Given the description of an element on the screen output the (x, y) to click on. 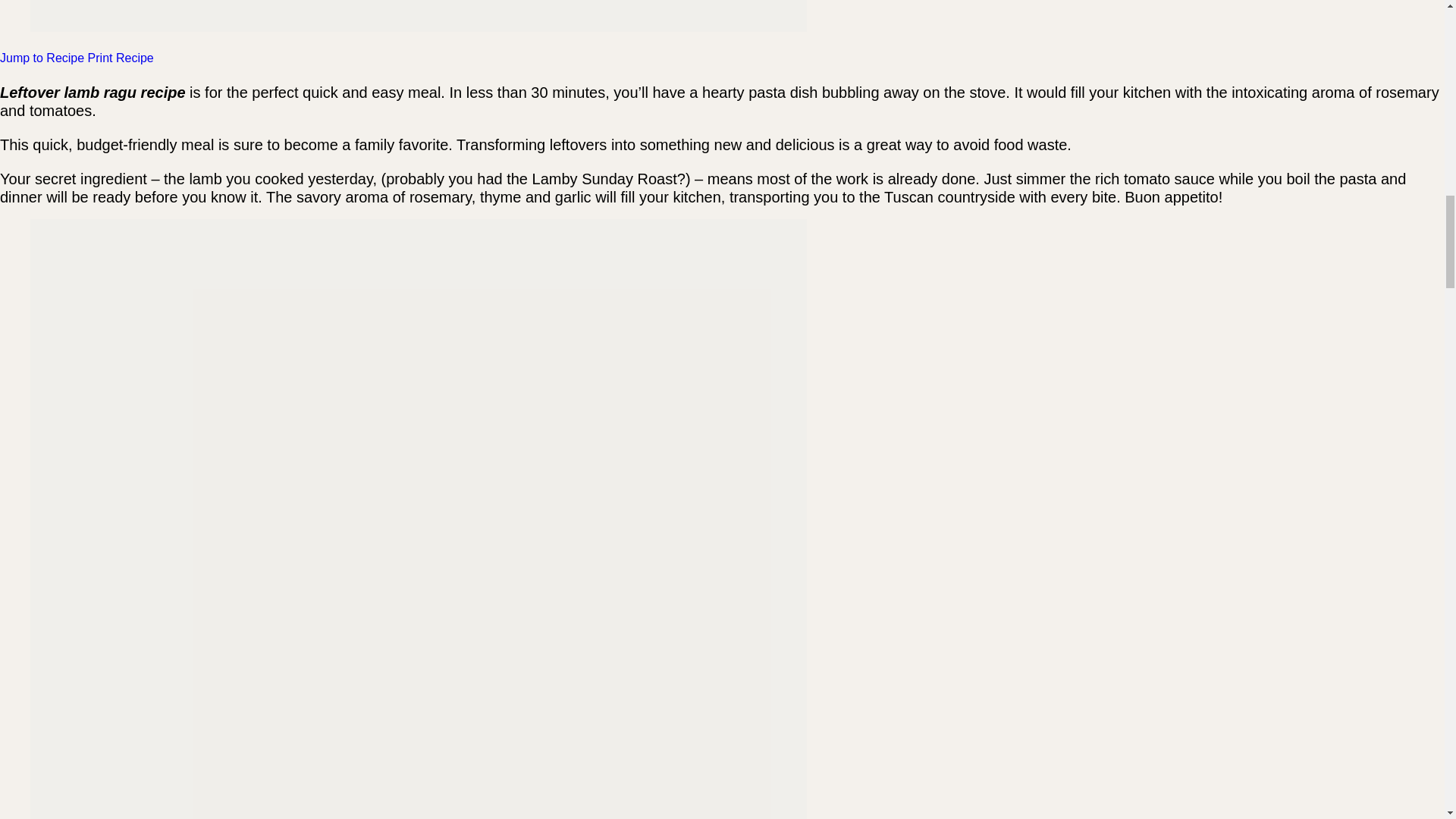
Jump to Recipe (43, 57)
Print Recipe (120, 57)
Jump to Recipe (43, 57)
Print Recipe (120, 57)
